Given the description of an element on the screen output the (x, y) to click on. 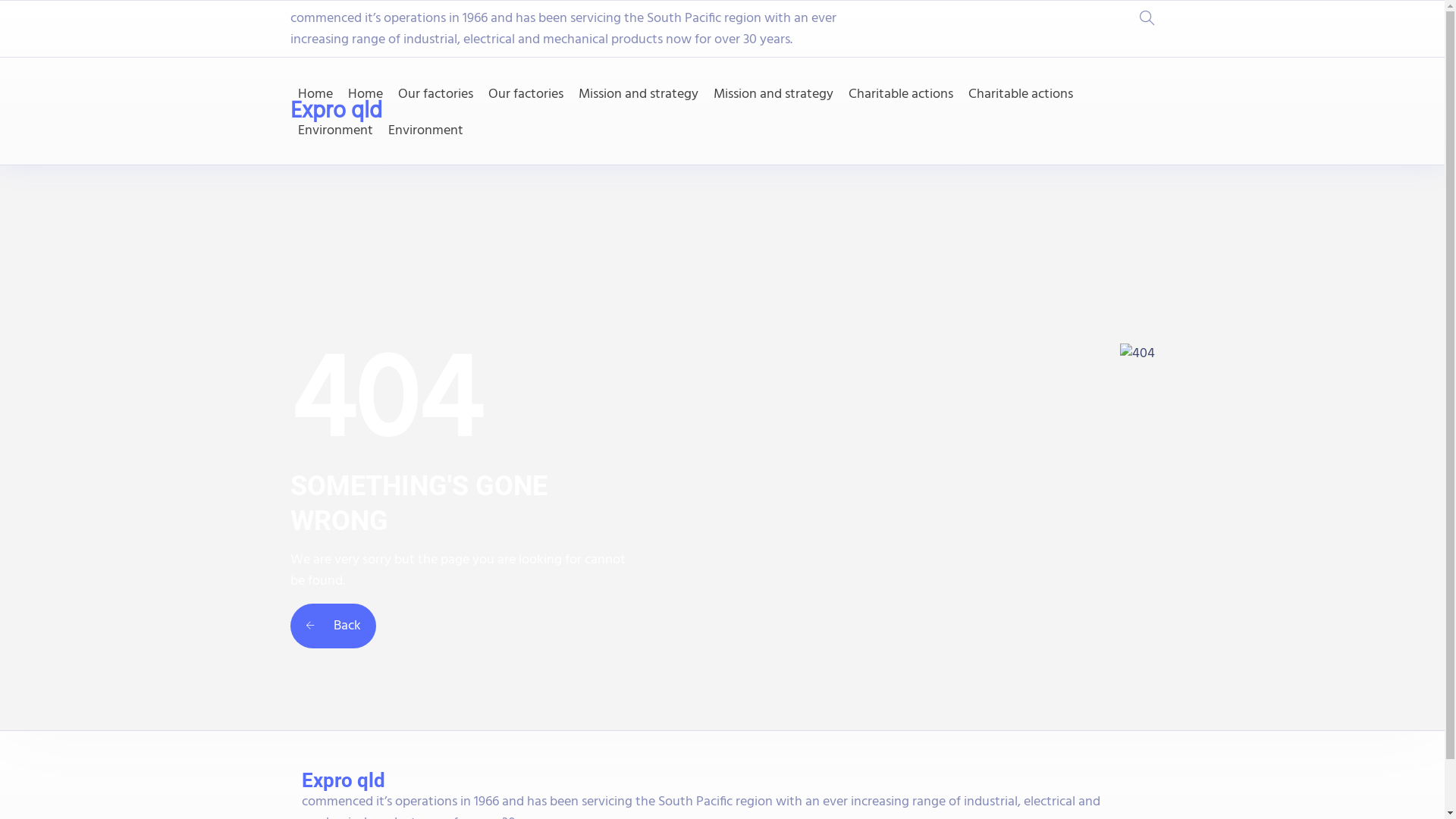
Our factories Element type: text (434, 94)
Home Element type: text (314, 94)
Mission and strategy Element type: text (637, 94)
Mission and strategy Element type: text (772, 94)
Charitable actions Element type: text (899, 94)
Home Element type: text (364, 94)
Our factories Element type: text (525, 94)
Expro qld Element type: text (335, 110)
Environment Element type: text (334, 130)
Back Element type: text (332, 625)
Charitable actions Element type: text (1019, 94)
Environment Element type: text (425, 130)
